Given the description of an element on the screen output the (x, y) to click on. 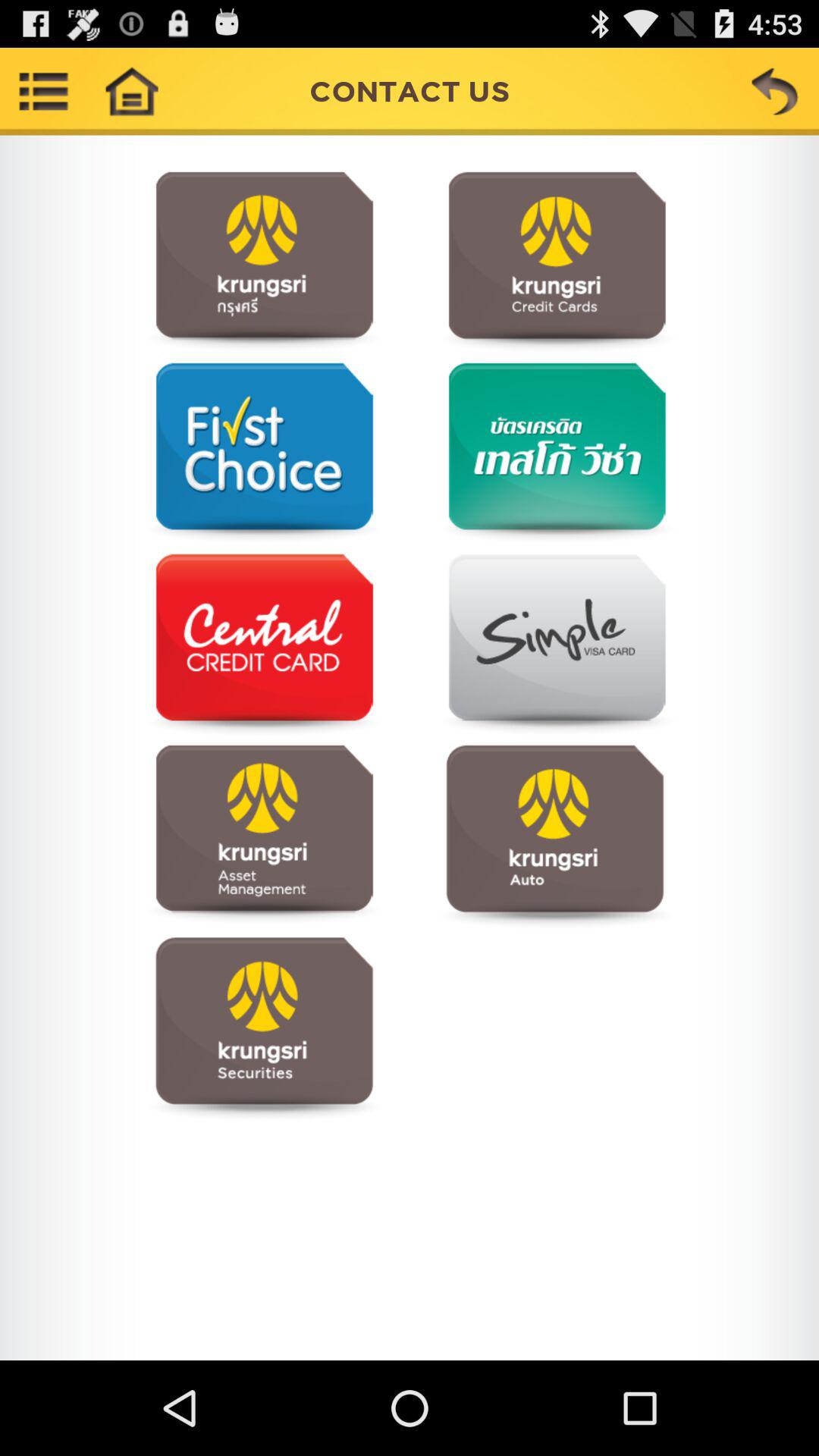
access krungsri auto page (554, 835)
